Given the description of an element on the screen output the (x, y) to click on. 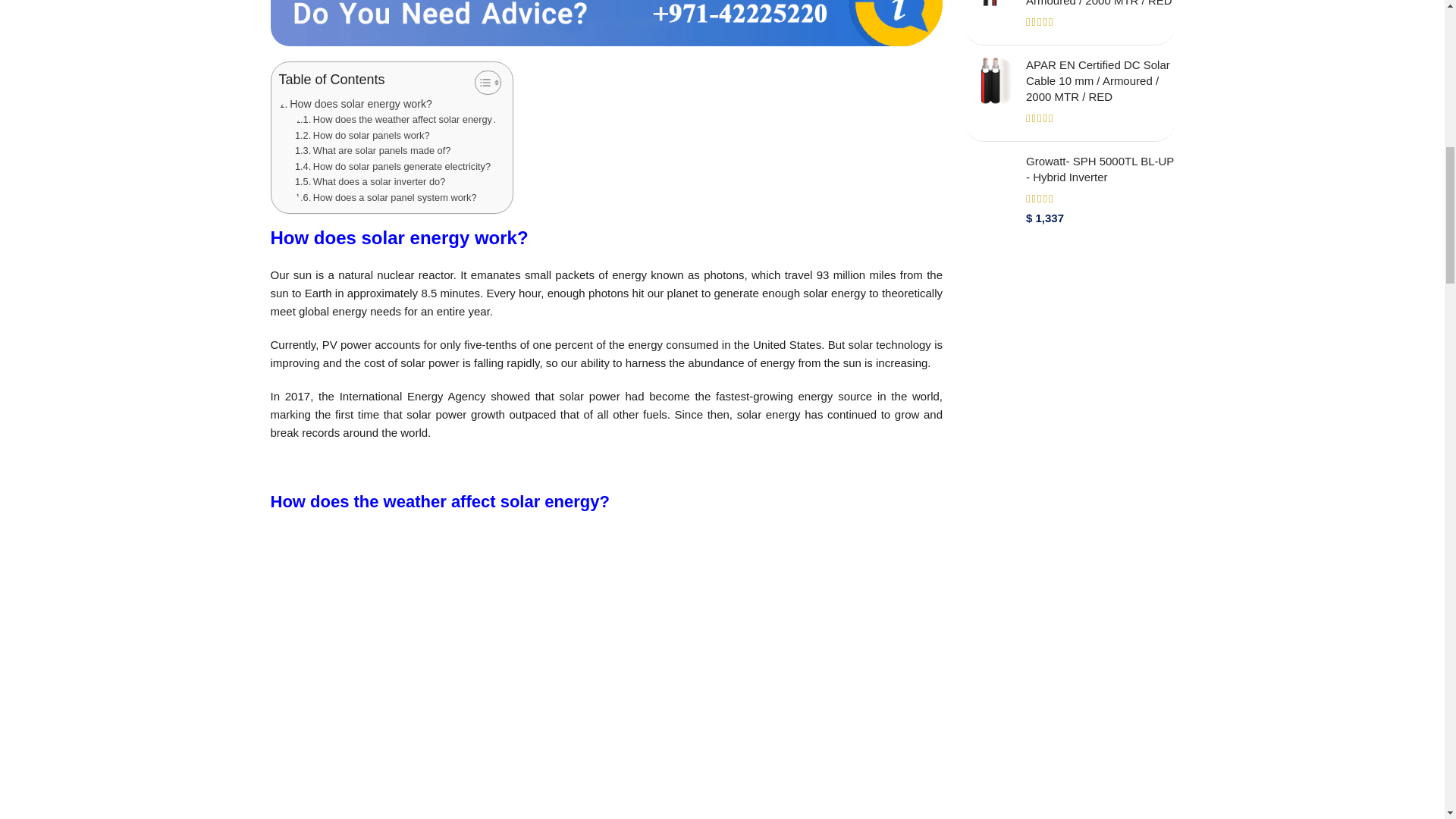
How do solar panels generate electricity? (392, 166)
How does solar energy work? (355, 104)
How does a solar panel system work? (386, 198)
What are solar panels made of? (373, 150)
How do solar panels work? (362, 135)
How does the weather affect solar energy? (396, 119)
What does a solar inverter do? (370, 182)
